Given the description of an element on the screen output the (x, y) to click on. 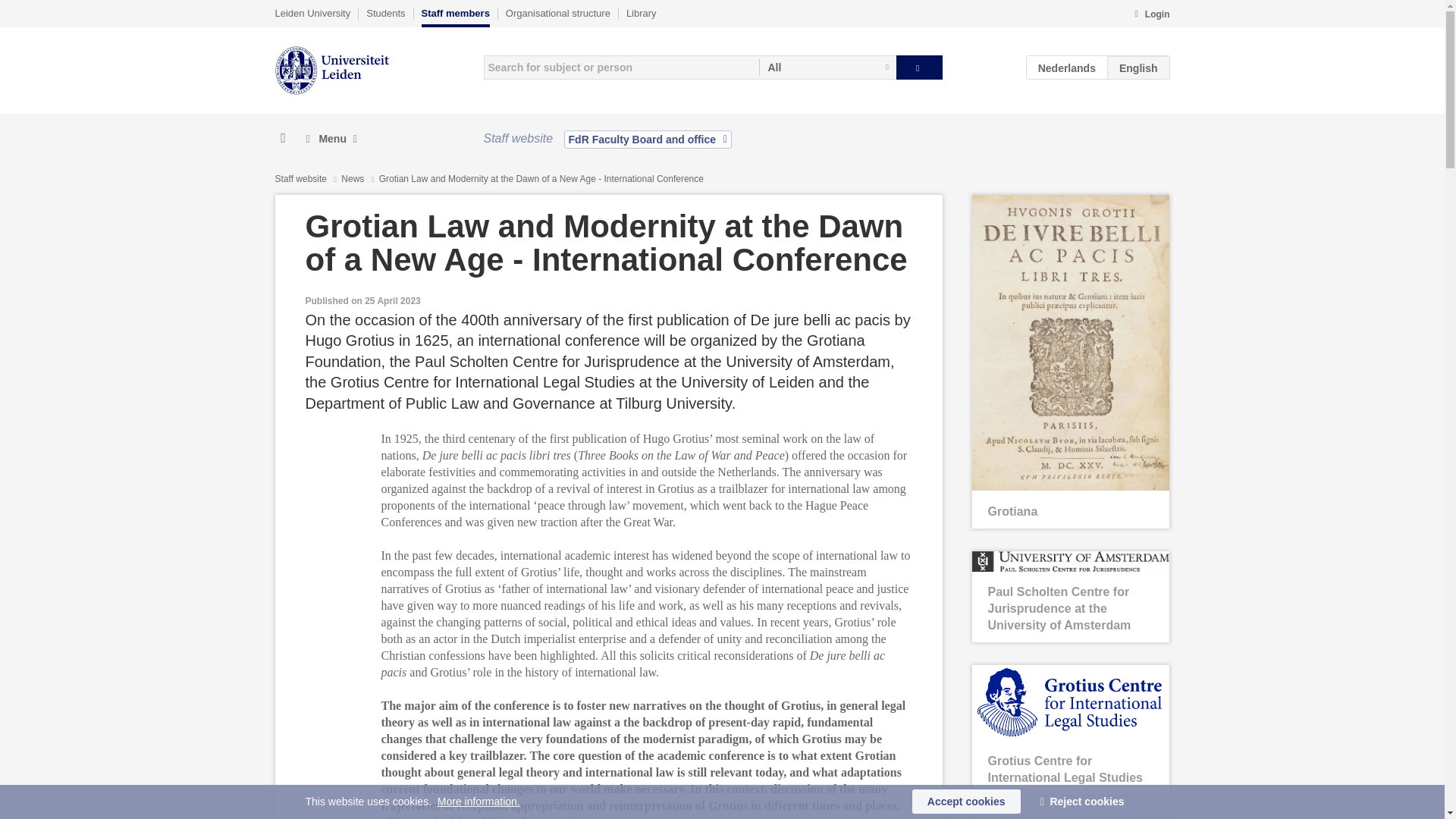
Organisational structure (557, 13)
Login (1151, 14)
Leiden University (312, 13)
Search (919, 67)
Students (385, 13)
Library (641, 13)
Menu (330, 139)
FdR Faculty Board and office (648, 139)
NL (1067, 67)
All (827, 67)
Staff members (455, 17)
